Given the description of an element on the screen output the (x, y) to click on. 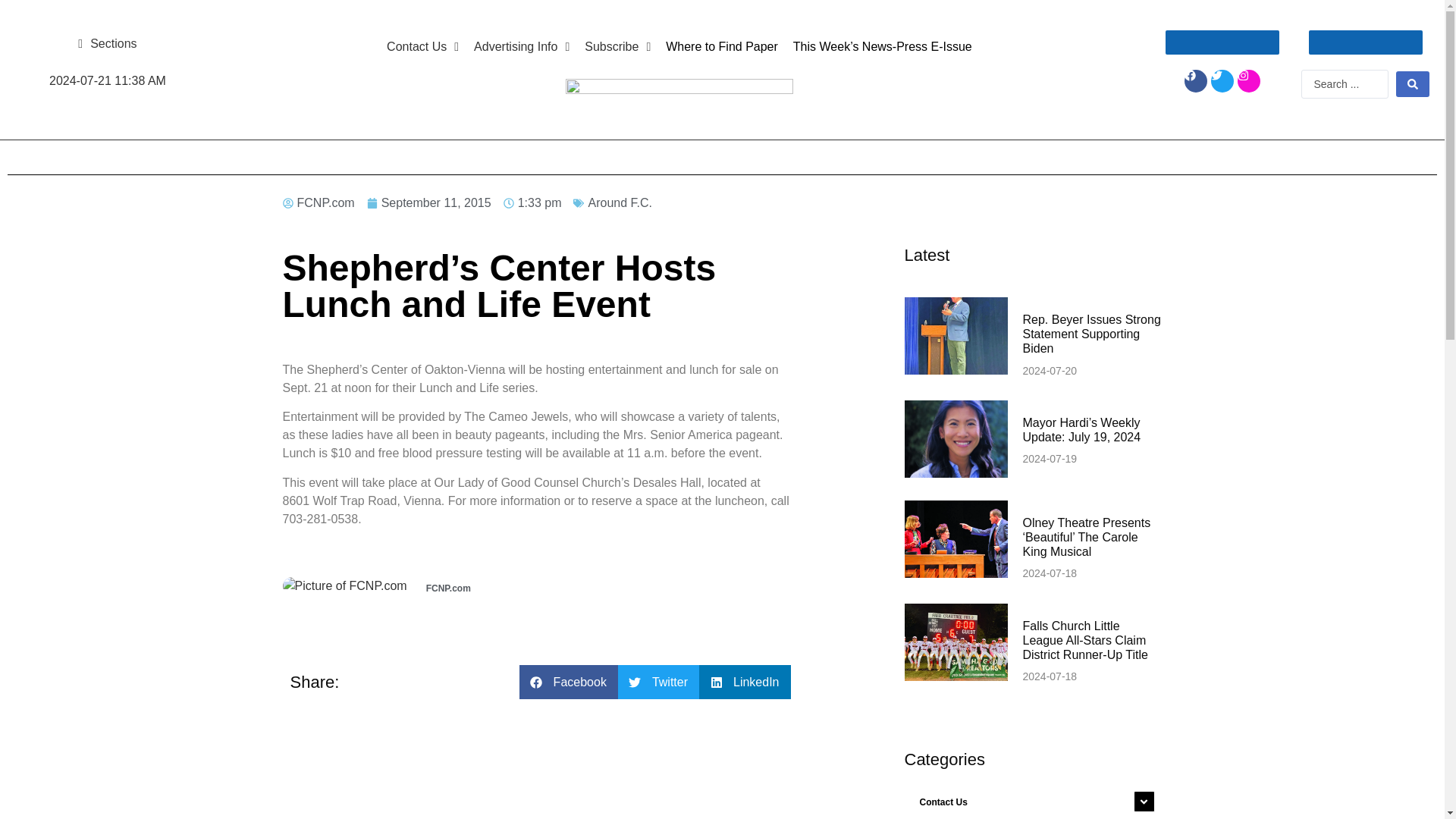
Advertising Info (520, 46)
Around F.C. (619, 202)
Subscribe (617, 46)
FCNP.com (317, 203)
Contact Us (1032, 800)
Where to Find Paper (722, 46)
September 11, 2015 (429, 203)
Rep. Beyer Issues Strong Statement Supporting Biden (1091, 333)
Contact Us (421, 46)
